Given the description of an element on the screen output the (x, y) to click on. 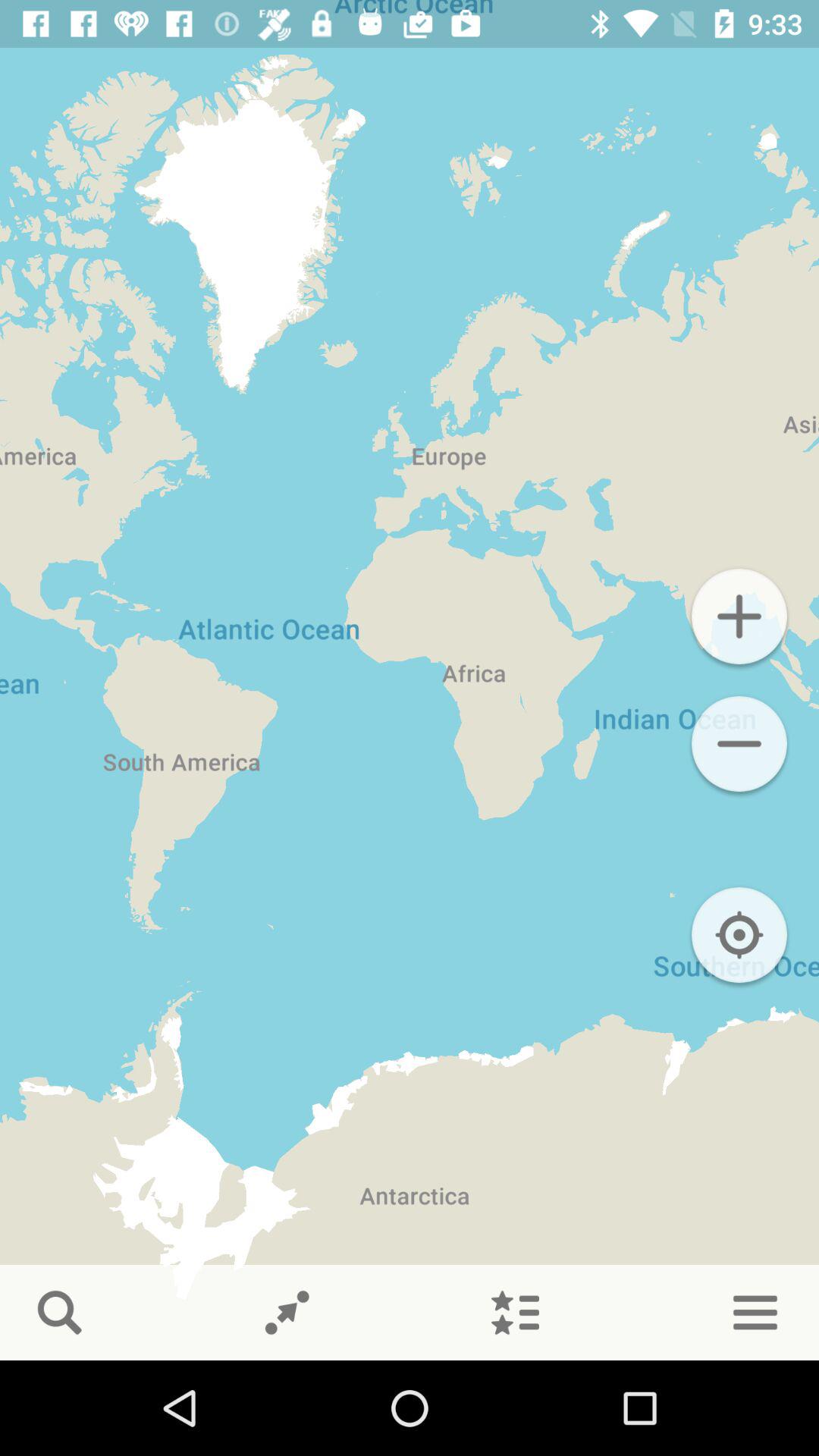
zooms map (739, 616)
